Given the description of an element on the screen output the (x, y) to click on. 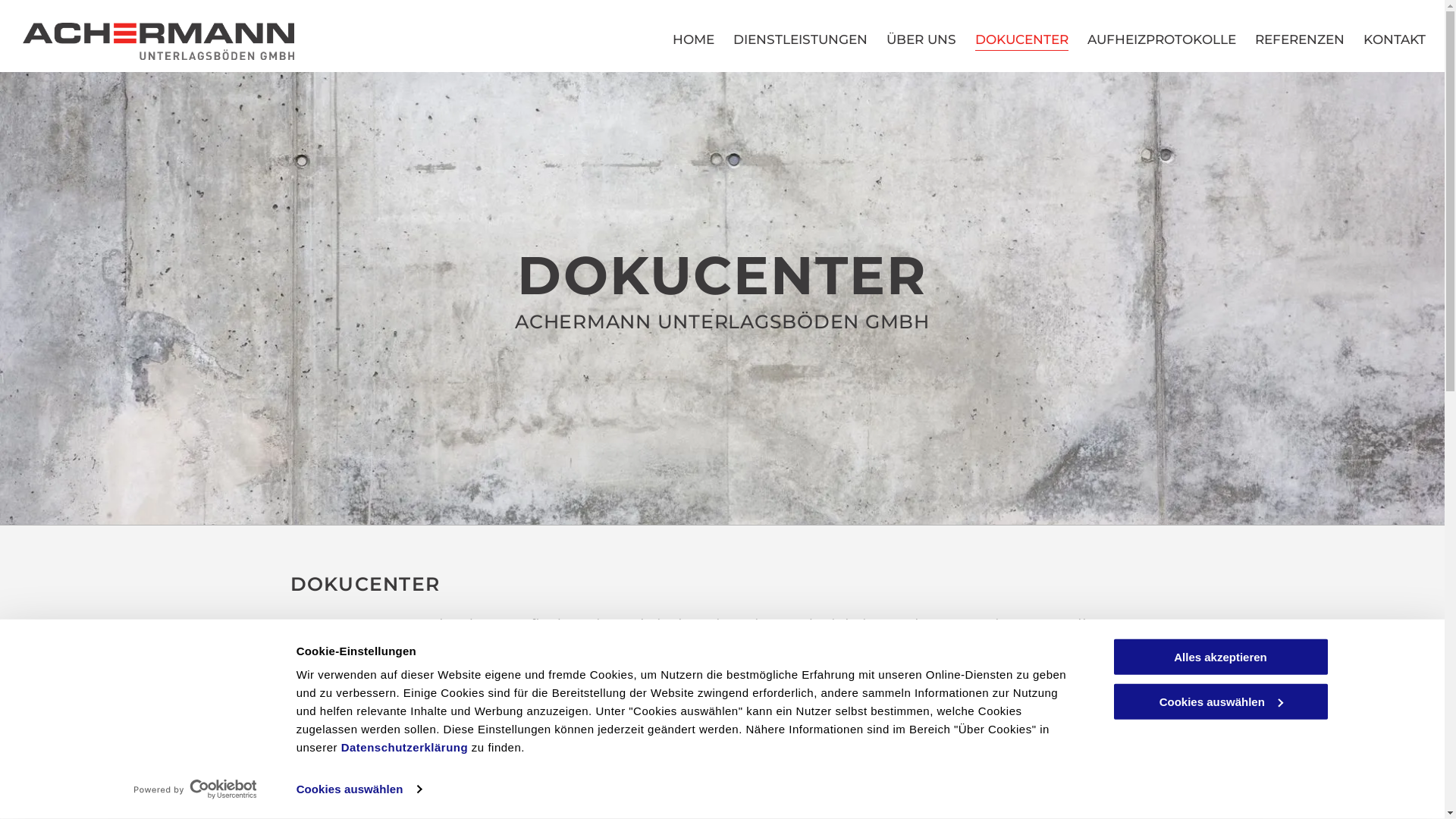
DIENSTLEISTUNGEN Element type: text (800, 39)
AUFHEIZPROTOKOLLE Element type: text (1161, 39)
Alles akzeptieren Element type: text (1219, 656)
KONTAKT Element type: text (1394, 39)
HOME Element type: text (693, 39)
REFERENZEN Element type: text (1299, 39)
DOKUCENTER Element type: text (1021, 39)
KONTAKT Element type: text (343, 711)
